Given the description of an element on the screen output the (x, y) to click on. 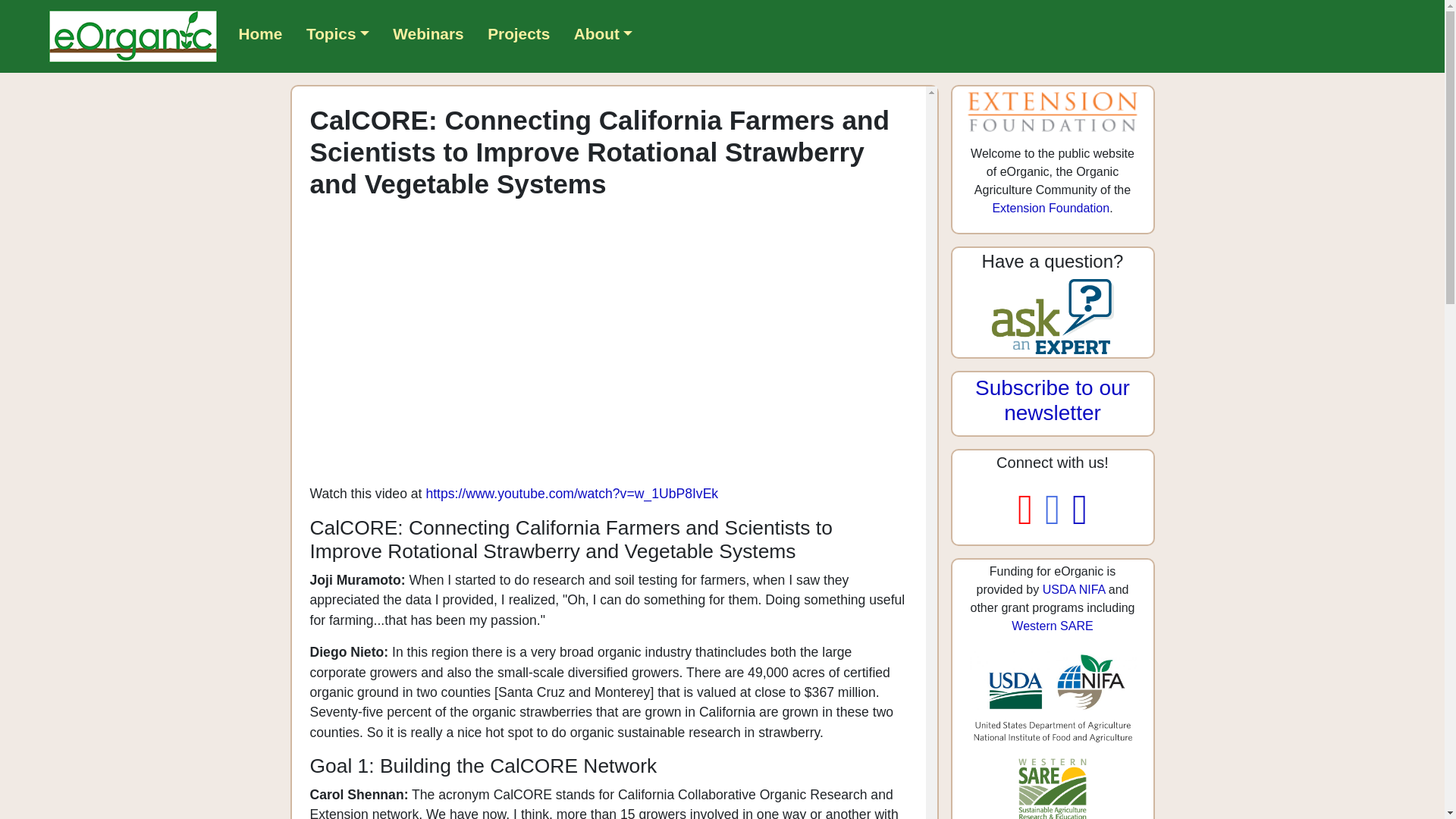
Home (260, 33)
Subscribe to our newsletter (1052, 400)
Projects (518, 33)
About (603, 33)
Western SARE (1052, 625)
Topics (337, 33)
Webinars (427, 33)
USDA NIFA (1073, 589)
Extension Foundation (1050, 207)
